Given the description of an element on the screen output the (x, y) to click on. 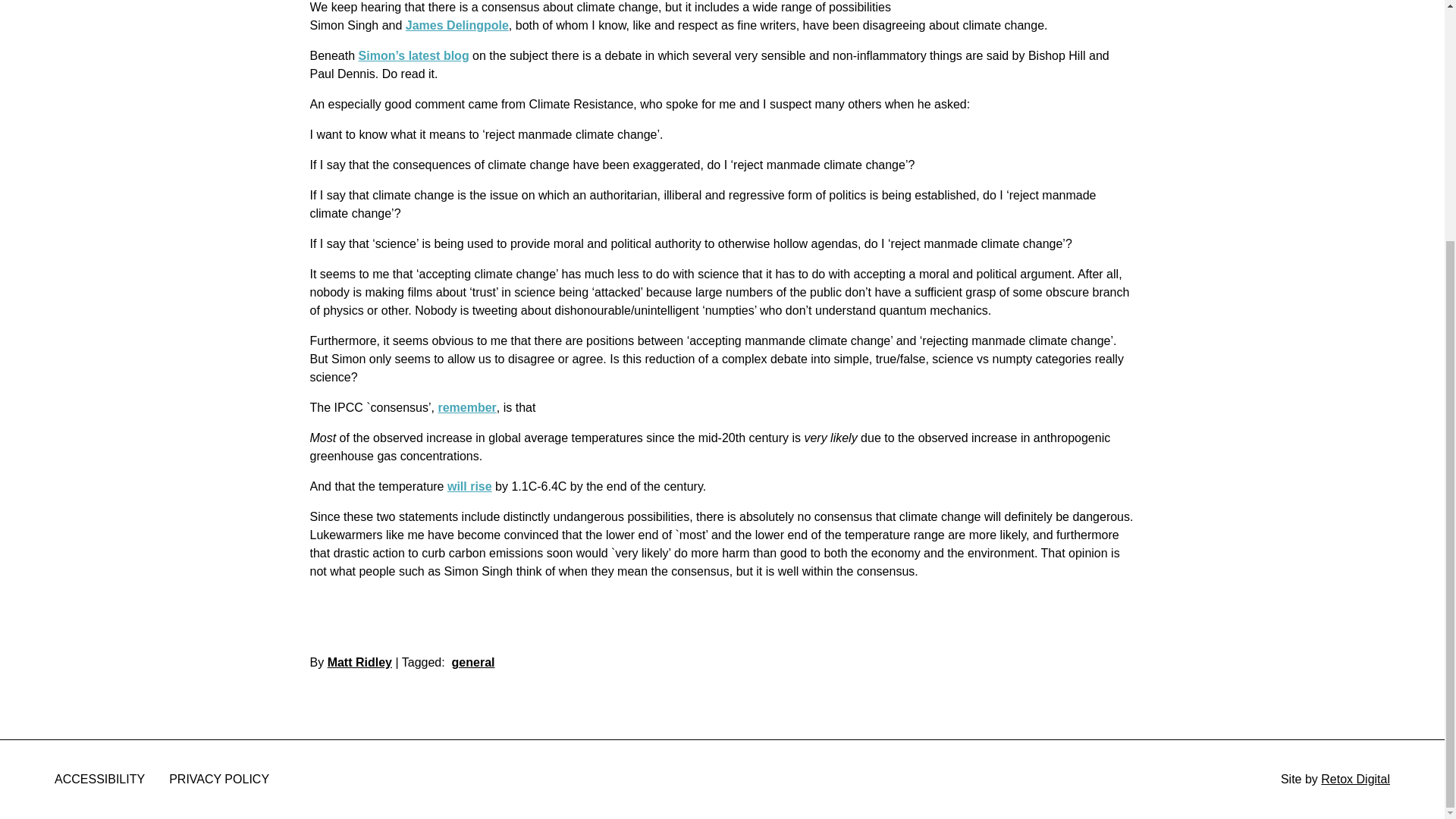
ACCESSIBILITY (99, 779)
James Delingpole (457, 24)
remember (467, 407)
Retox Digital (1355, 779)
will rise (469, 486)
general (473, 662)
PRIVACY POLICY (218, 779)
